Given the description of an element on the screen output the (x, y) to click on. 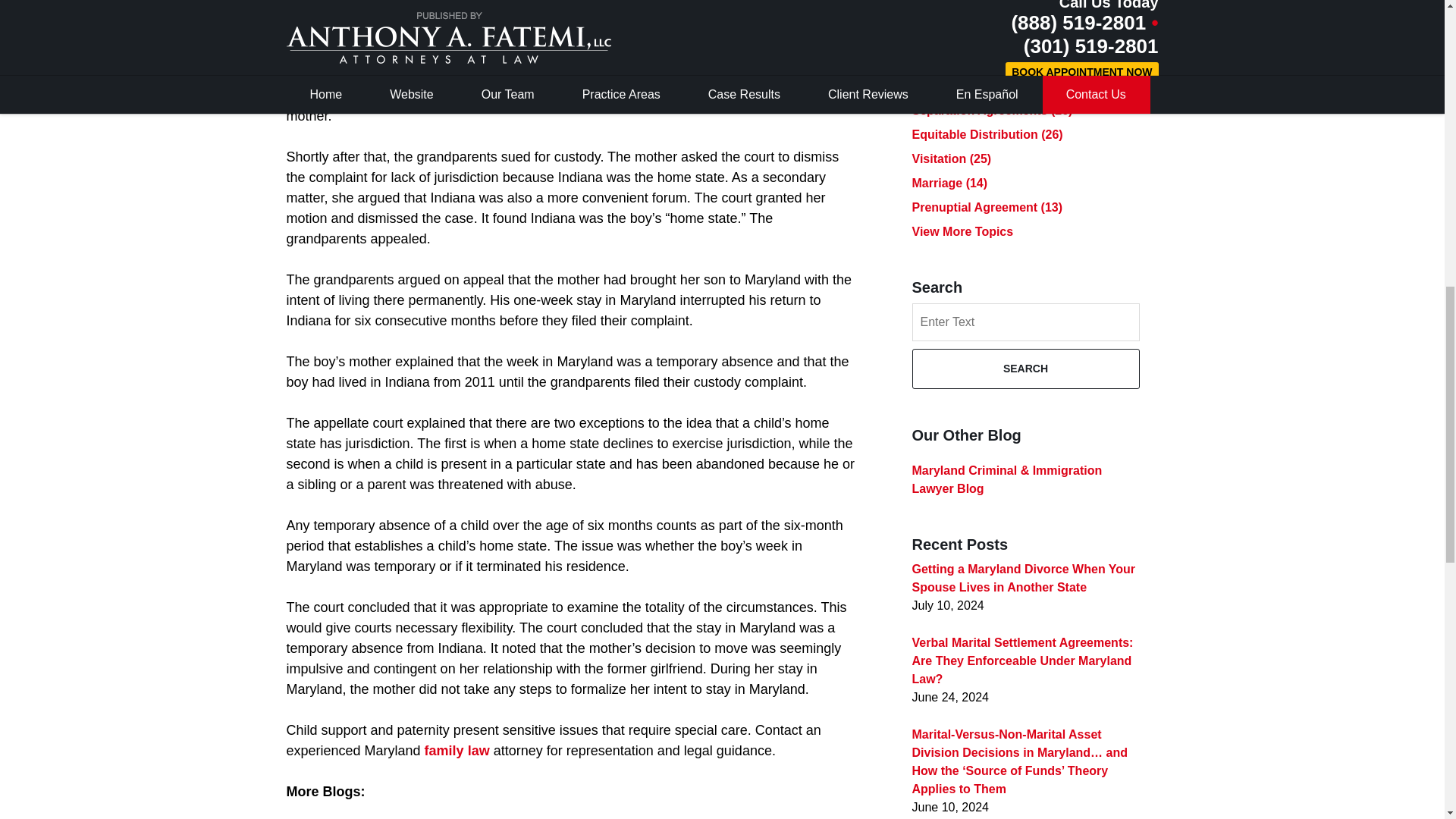
family law (457, 750)
